Given the description of an element on the screen output the (x, y) to click on. 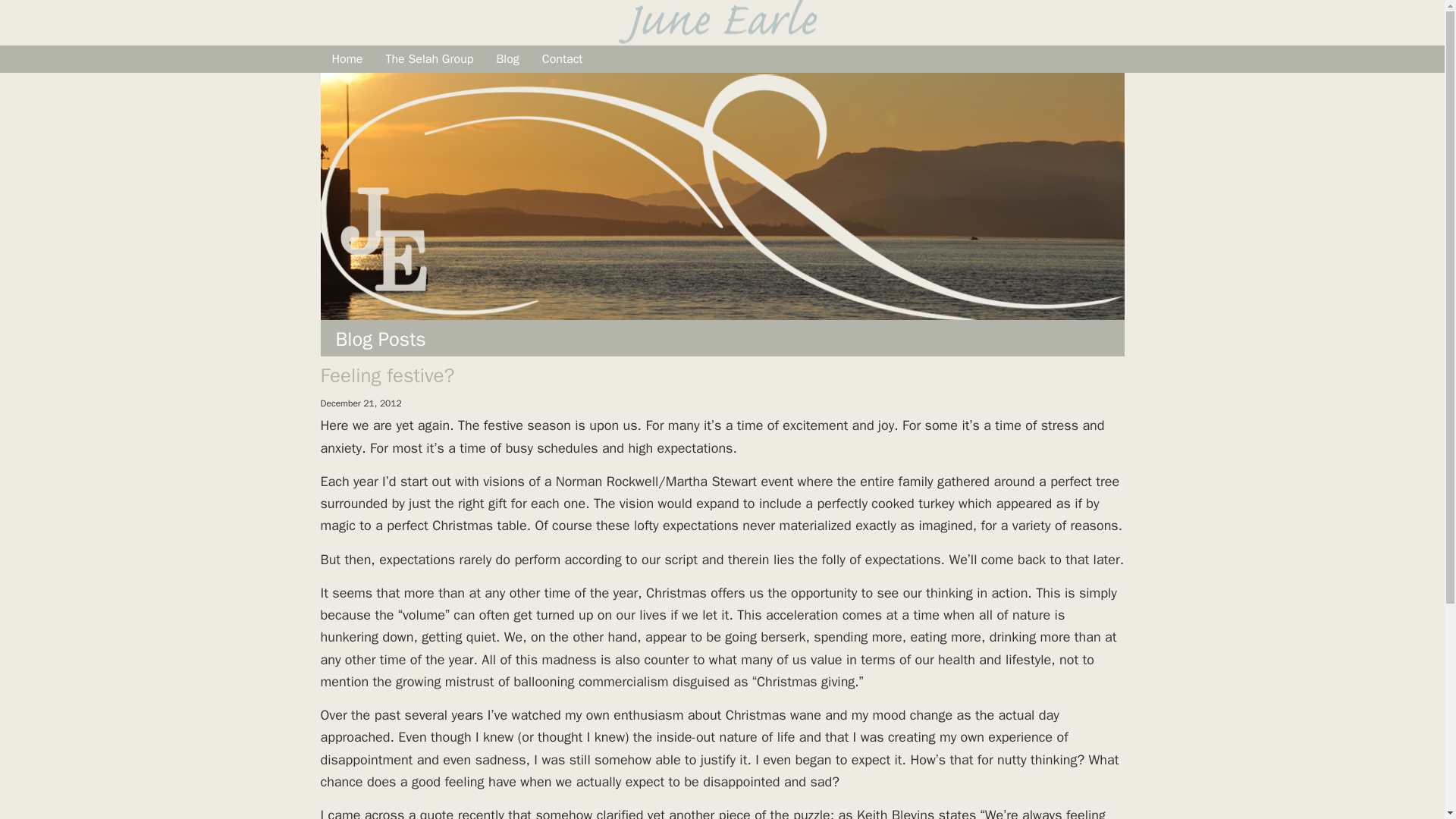
Blog (506, 58)
Contact (562, 58)
Home (347, 58)
The Selah Group (429, 58)
June Earle: Counselling Services (547, 22)
